Given the description of an element on the screen output the (x, y) to click on. 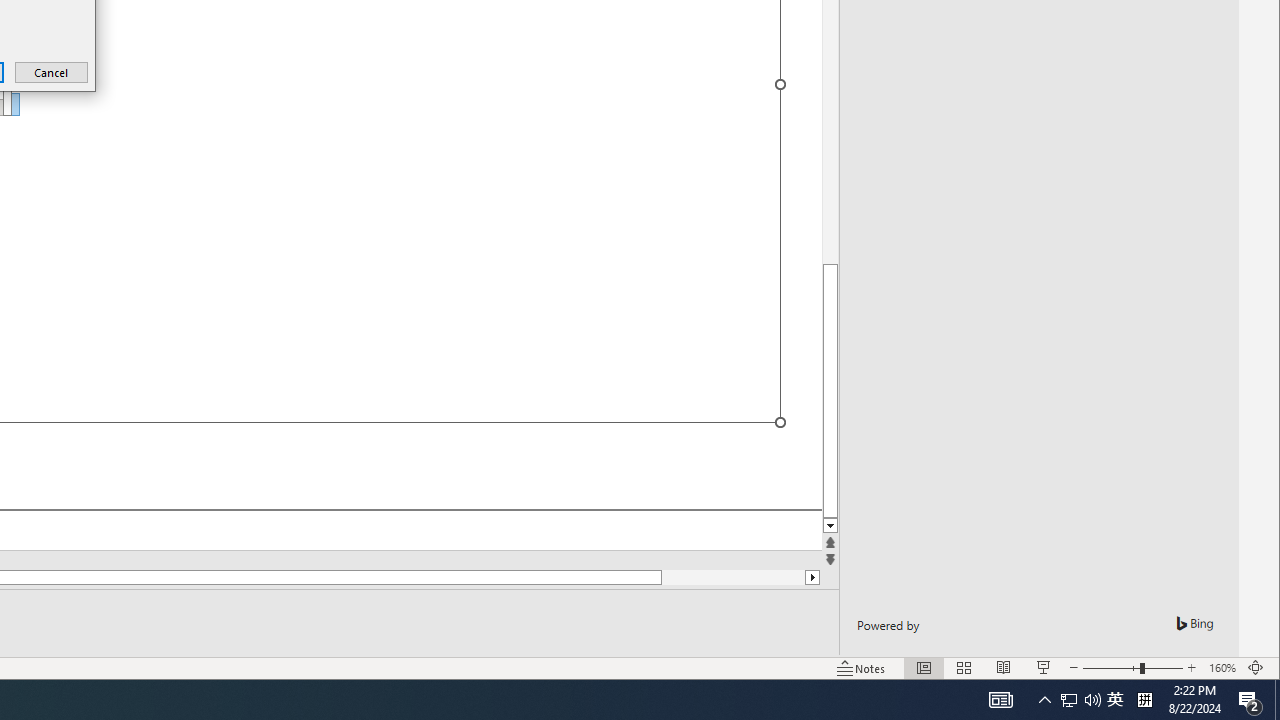
Zoom 160% (1222, 668)
